Given the description of an element on the screen output the (x, y) to click on. 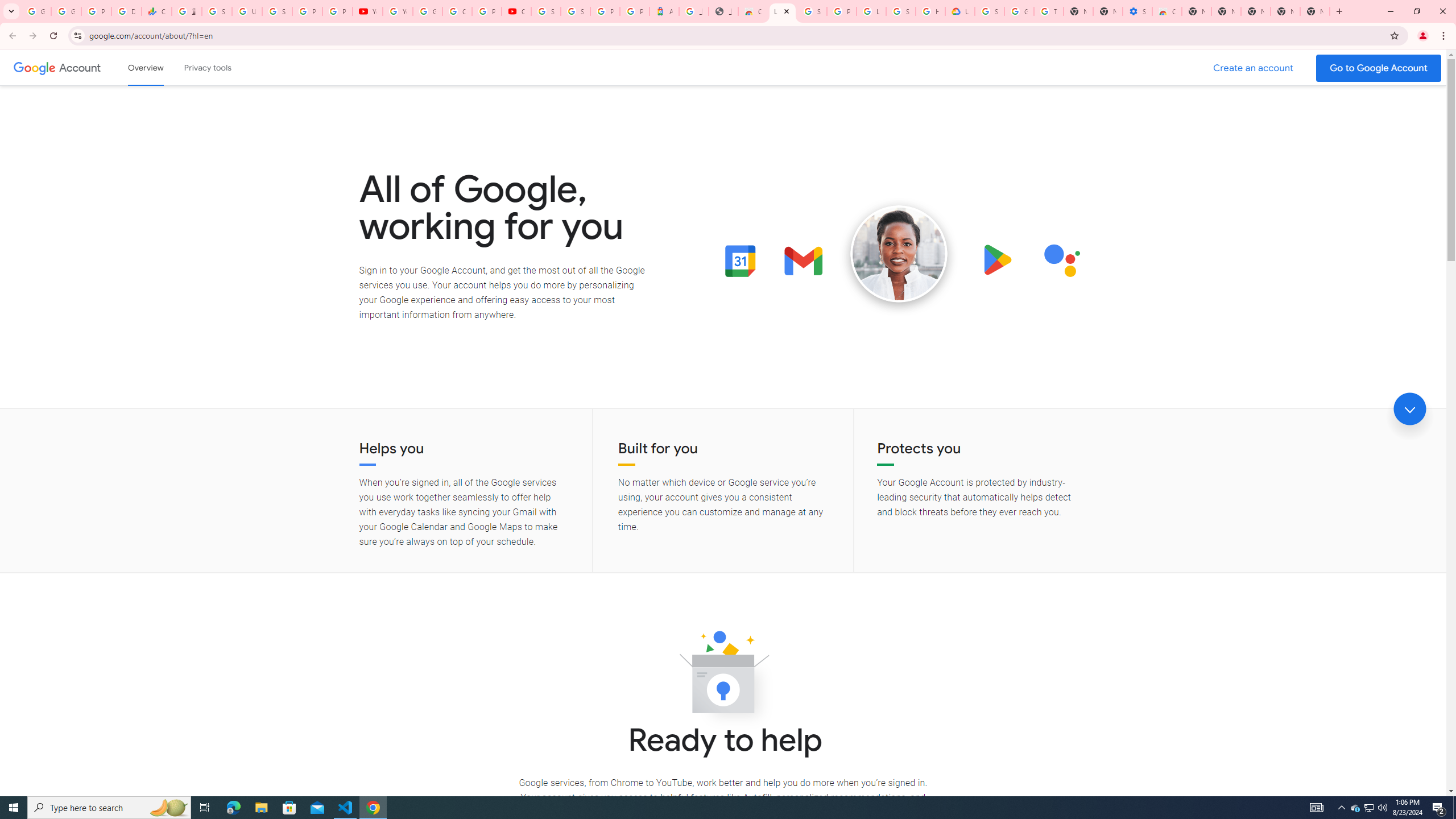
Skip to Content (162, 65)
Google Account Help (426, 11)
Chrome Web Store - Household (753, 11)
Privacy tools (207, 67)
